Given the description of an element on the screen output the (x, y) to click on. 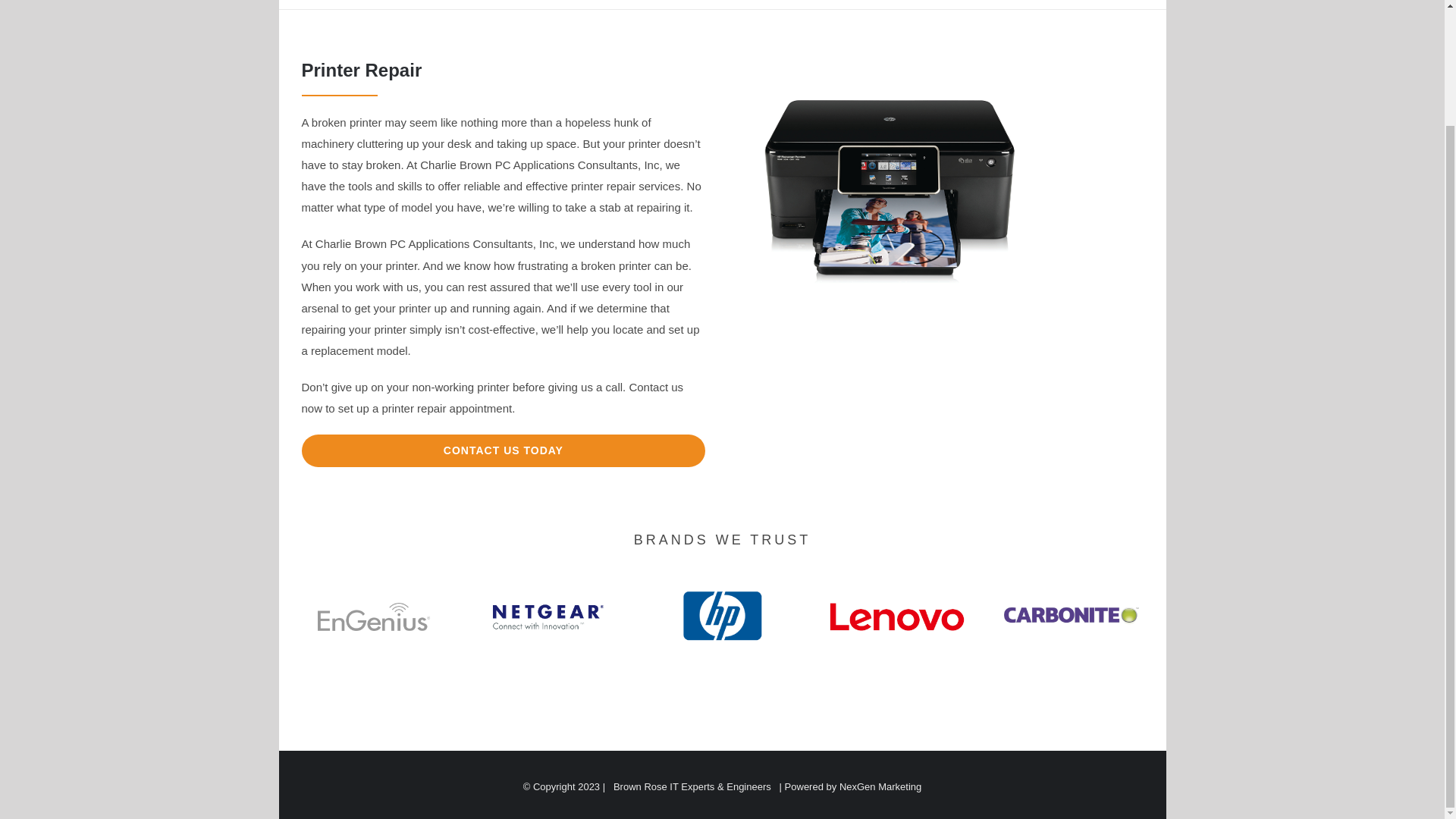
New-Printers (890, 191)
CONTACT US TODAY (503, 450)
NexGen Marketing (880, 785)
